Given the description of an element on the screen output the (x, y) to click on. 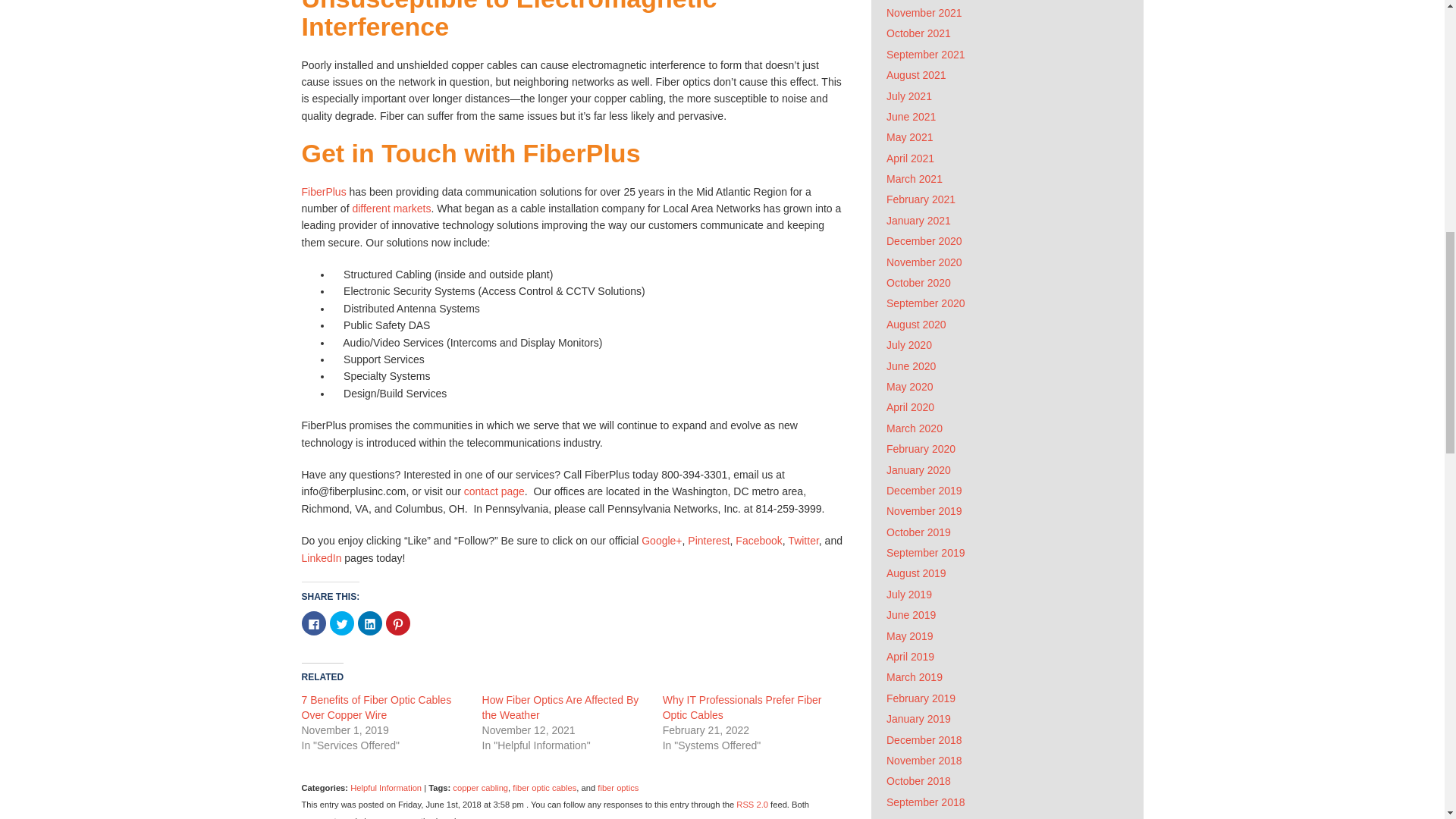
Click to share on Facebook (313, 622)
Click to share on Twitter (341, 622)
Click to share on Pinterest (397, 622)
Click to share on LinkedIn (369, 622)
